Given the description of an element on the screen output the (x, y) to click on. 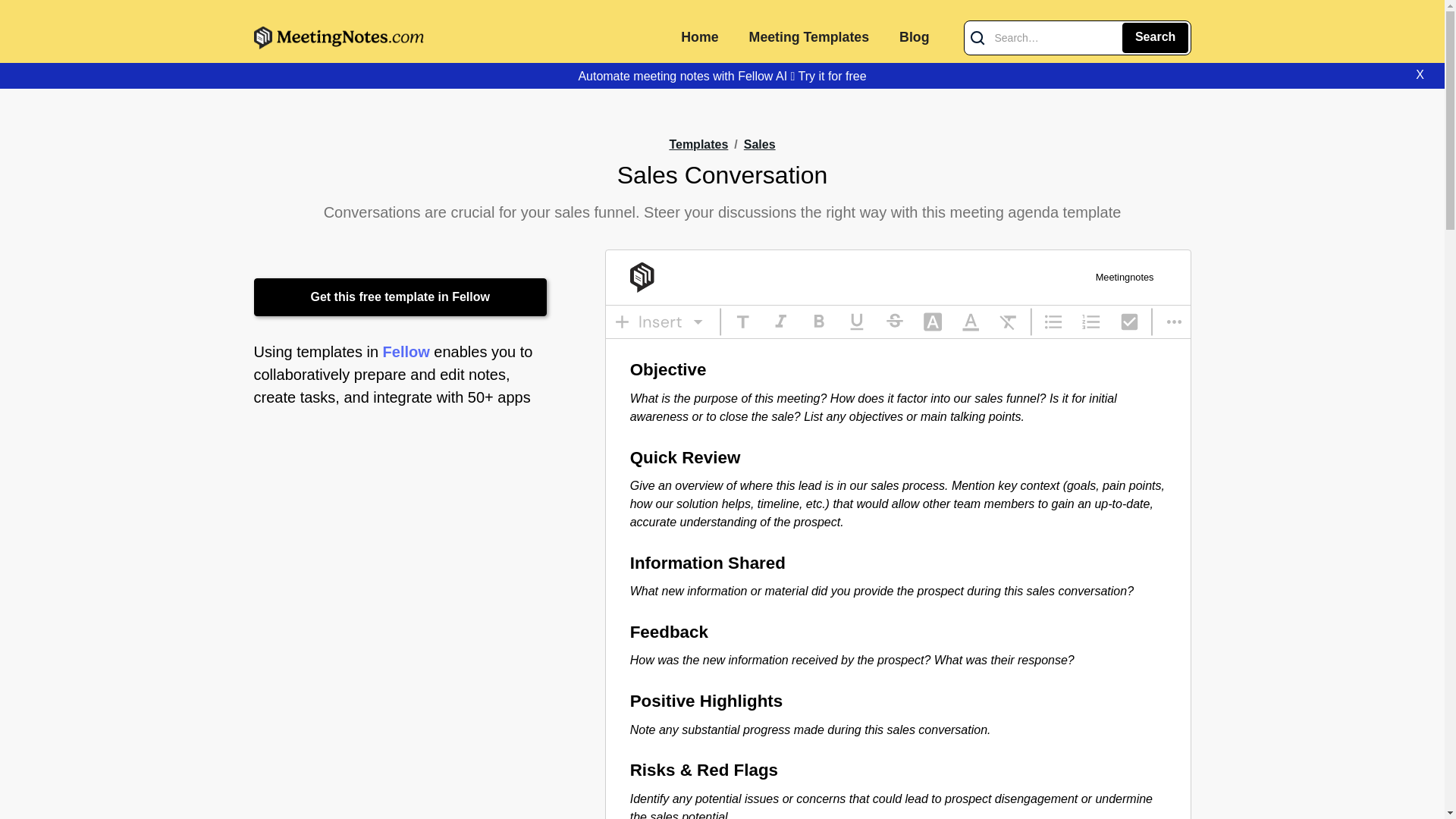
Fellow (405, 352)
Search (1155, 37)
Templates (698, 144)
Search (1155, 37)
Sales (760, 144)
Meeting Templates (808, 37)
Get this free template in Fellow (399, 297)
Home (699, 37)
Search (1155, 37)
Blog (913, 37)
